Given the description of an element on the screen output the (x, y) to click on. 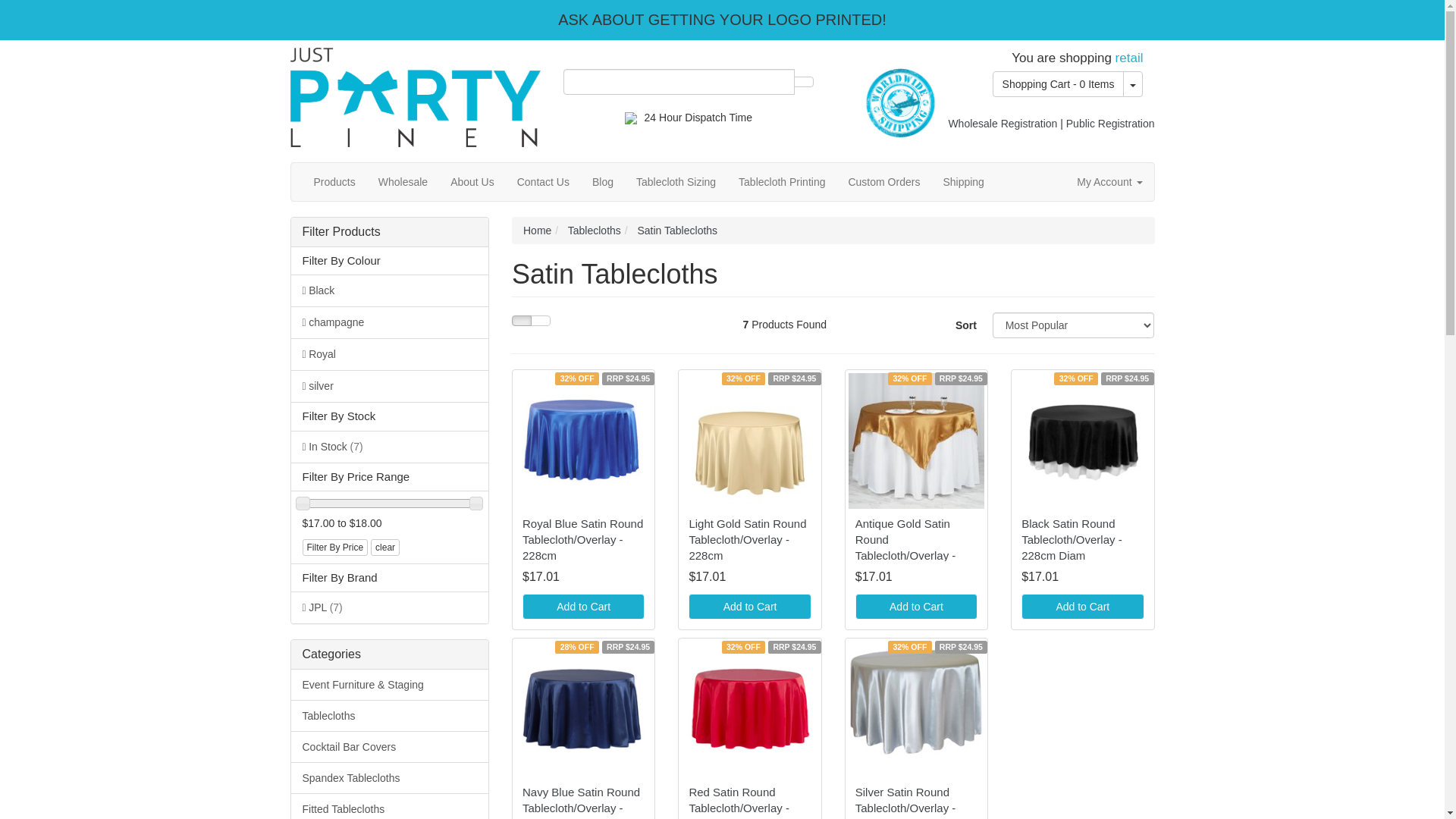
Light Gold Satin Round Tablecloth/Overlay - 228cm Element type: text (747, 539)
Shipping Element type: text (963, 181)
Add to Cart Element type: text (749, 606)
Add to Cart Element type: text (583, 606)
Search Element type: text (803, 81)
Products Element type: text (333, 181)
ASK ABOUT GETTING YOUR LOGO PRINTED! Element type: text (722, 19)
Filter By Price Element type: text (334, 547)
Blog Element type: text (602, 181)
Add to Cart Element type: text (916, 606)
Black Satin Round Tablecloth/Overlay - 228cm Diam Element type: text (1071, 539)
In Stock (7) Element type: text (390, 446)
Spandex Tablecloths Element type: text (390, 777)
Tablecloth Sizing Element type: text (675, 181)
Add to Cart Element type: text (1082, 606)
Event Furniture & Staging Element type: text (390, 684)
Wholesale Registration Element type: text (1002, 123)
Custom Orders Element type: text (883, 181)
Tablecloths Element type: text (594, 230)
Shopping Cart - 0 Items Element type: text (1058, 84)
JPL (7) Element type: text (390, 607)
Royal Blue Satin Round Tablecloth/Overlay - 228cm Element type: text (582, 539)
Home Element type: text (537, 230)
Antique Gold Satin Round Tablecloth/Overlay - 228 Element type: text (905, 547)
My Account Element type: text (1109, 181)
Cocktail Bar Covers Element type: text (390, 746)
champagne Element type: text (390, 322)
About Us Element type: text (472, 181)
Public Registration Element type: text (1110, 123)
Tablecloths Element type: text (390, 715)
silver Element type: text (390, 385)
Wholesale Element type: text (403, 181)
Black Element type: text (390, 290)
Filter Products Element type: text (388, 231)
Tablecloth Printing Element type: text (781, 181)
Royal Element type: text (390, 354)
clear Element type: text (384, 547)
Satin Tablecloths Element type: text (677, 230)
Contact Us Element type: text (542, 181)
Just Party Linen Pty Ltd Element type: hover (414, 92)
